Given the description of an element on the screen output the (x, y) to click on. 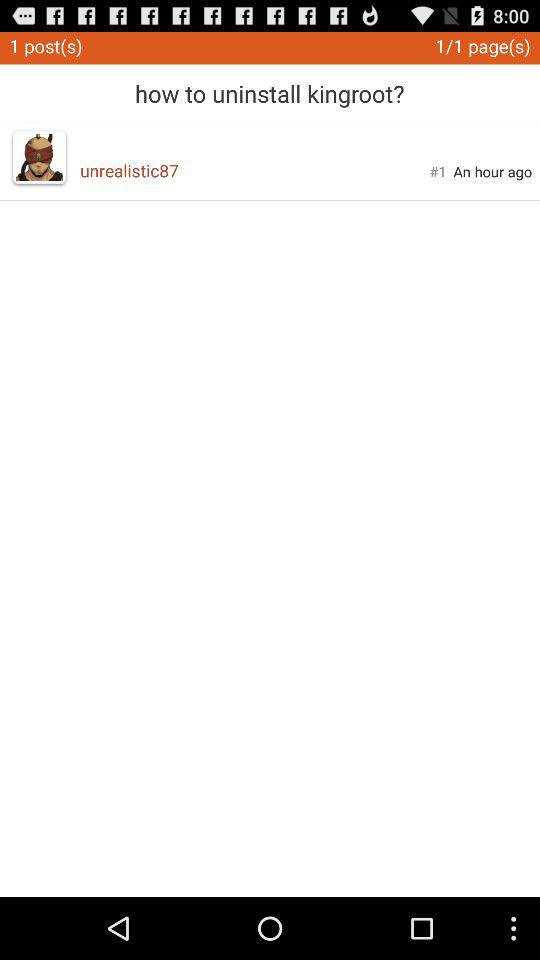
choose item below the 1 post(s) app (39, 157)
